Given the description of an element on the screen output the (x, y) to click on. 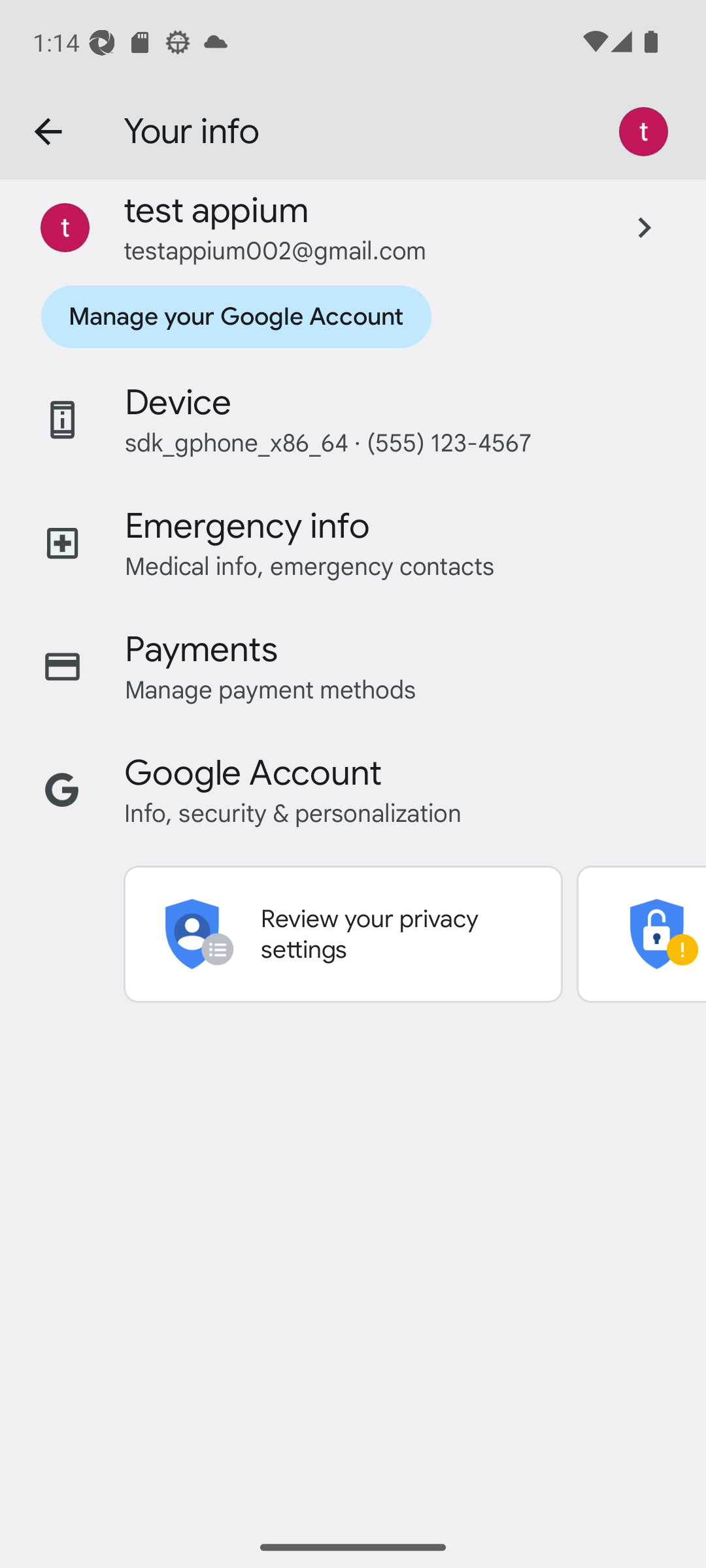
Navigate up (48, 131)
Manage your Google Account (235, 316)
Device sdk_gphone_x86_64 · (555) 123-4567 (353, 419)
Emergency info Medical info, emergency contacts (353, 543)
Payments Manage payment methods (353, 667)
Google Account Info, security & personalization (353, 790)
Review your privacy settings (342, 934)
